Given the description of an element on the screen output the (x, y) to click on. 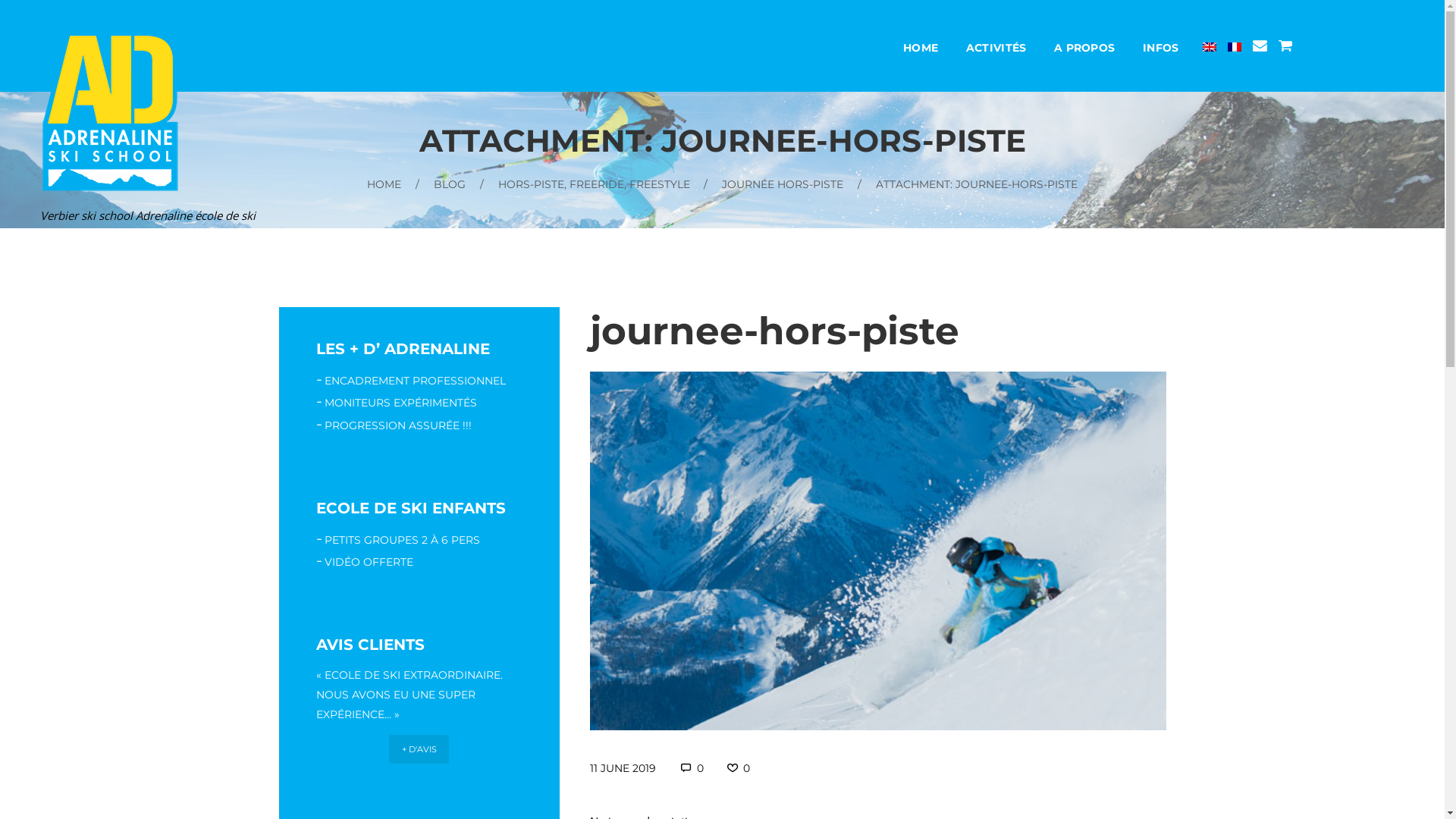
INFOS Element type: text (1160, 50)
English Element type: hover (1209, 46)
HOME Element type: text (920, 50)
0 Element type: text (736, 768)
0 Element type: text (690, 768)
HORS-PISTE, FREERIDE, FREESTYLE Element type: text (593, 182)
A PROPOS Element type: text (1084, 50)
11 JUNE 2019 Element type: text (622, 768)
+ D'AVIS Element type: text (419, 748)
BLOG Element type: text (449, 182)
HOME Element type: text (384, 182)
